Given the description of an element on the screen output the (x, y) to click on. 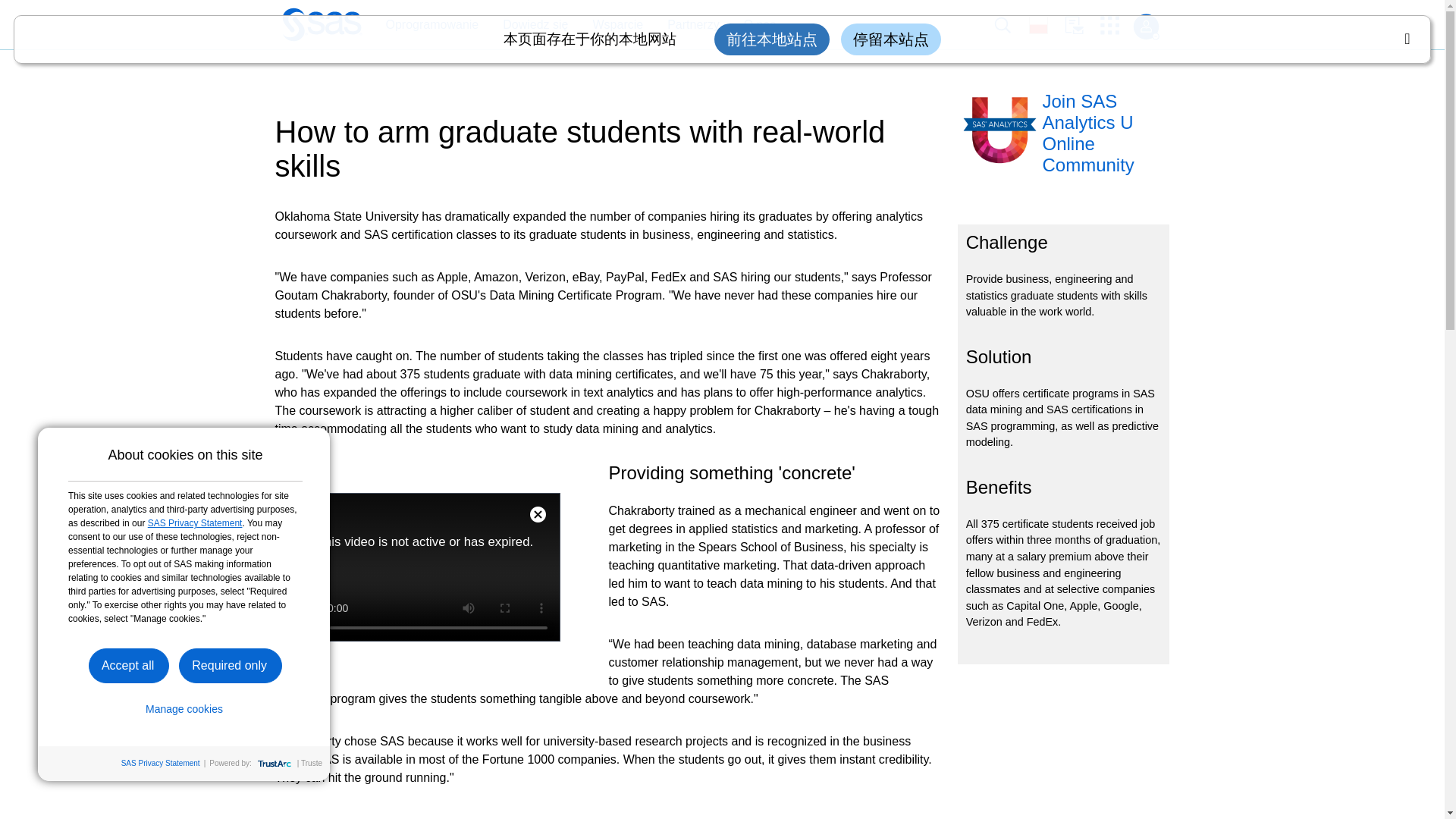
Wsparcie (610, 24)
O nas (759, 24)
Partnerzy (685, 24)
Oprogramowanie (424, 24)
O nas (751, 24)
Oprogramowanie (431, 24)
Partnerzy (692, 24)
Kontakt (1082, 25)
Strony SAS (1114, 25)
Wsparcie (617, 24)
